Given the description of an element on the screen output the (x, y) to click on. 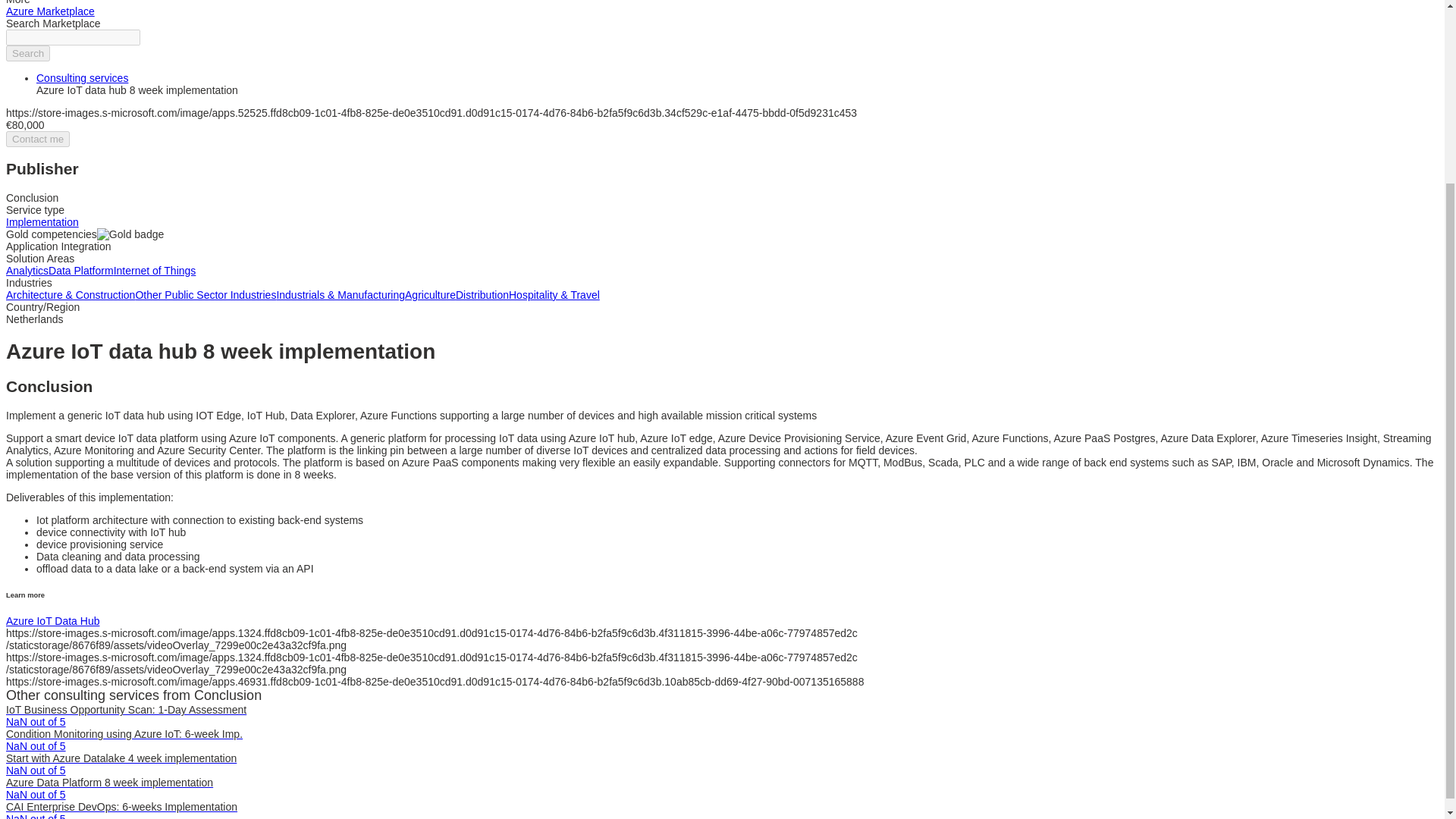
Analytics (26, 270)
Agriculture (429, 295)
Azure Data Platform 8 week implementation (108, 782)
Internet of Things (154, 270)
Azure Marketplace (49, 10)
Distribution (481, 295)
Search (27, 53)
Other Public Sector Industries (205, 295)
Condition Monitoring using Azure IoT: 6-week Imp. (124, 734)
Contact me (37, 139)
